Given the description of an element on the screen output the (x, y) to click on. 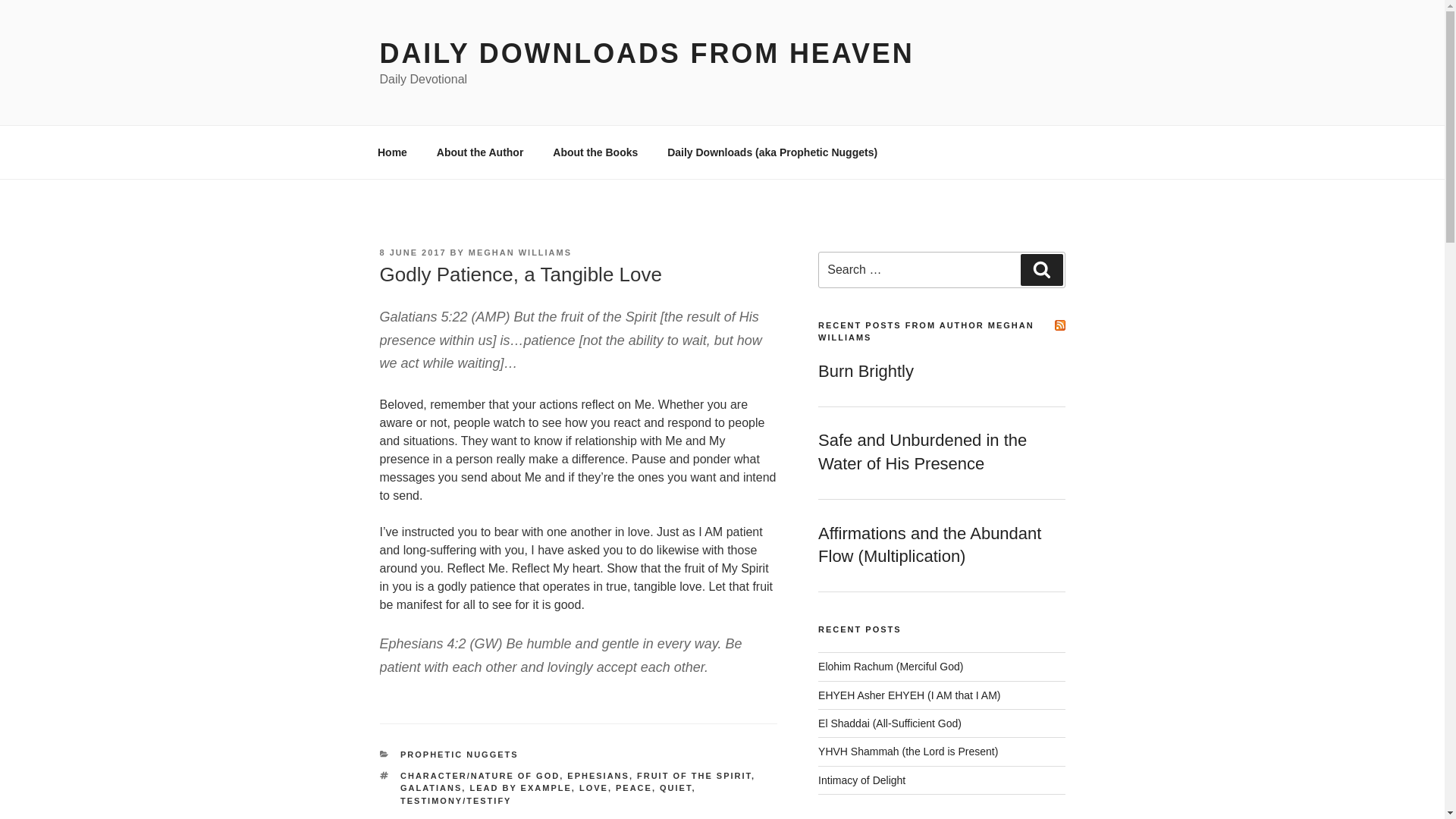
About the Books (595, 151)
About the Author (480, 151)
QUIET (675, 787)
Intimacy of Delight (861, 779)
8 JUNE 2017 (411, 252)
FRUIT OF THE SPIRIT (694, 775)
LOVE (593, 787)
MEGHAN WILLIAMS (520, 252)
LEAD BY EXAMPLE (519, 787)
GALATIANS (430, 787)
